Given the description of an element on the screen output the (x, y) to click on. 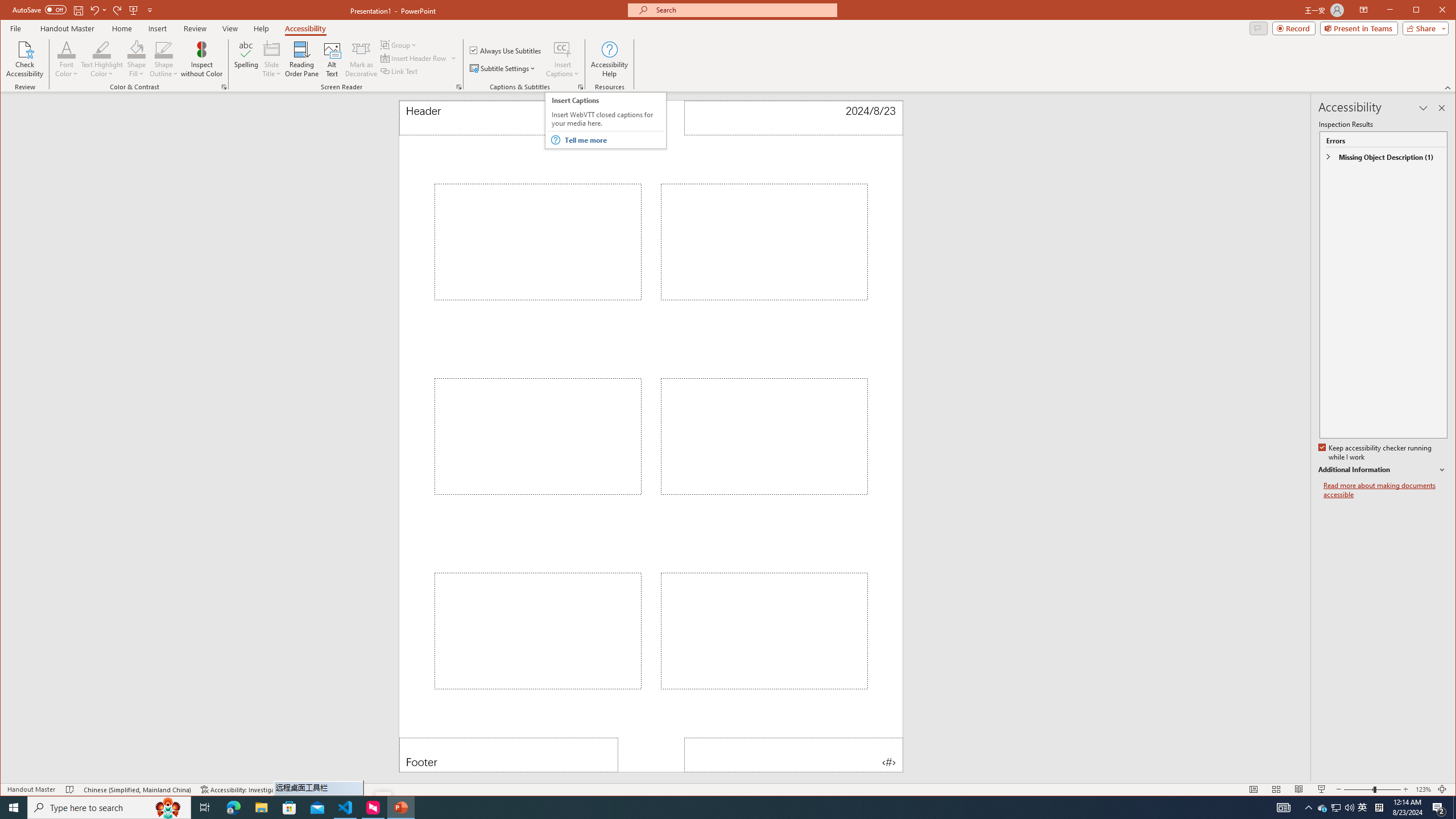
Maximize (1432, 11)
Insert Header Row (418, 57)
Shape Outline Blue, Accent 1 (163, 48)
Zoom 123% (1422, 789)
